Given the description of an element on the screen output the (x, y) to click on. 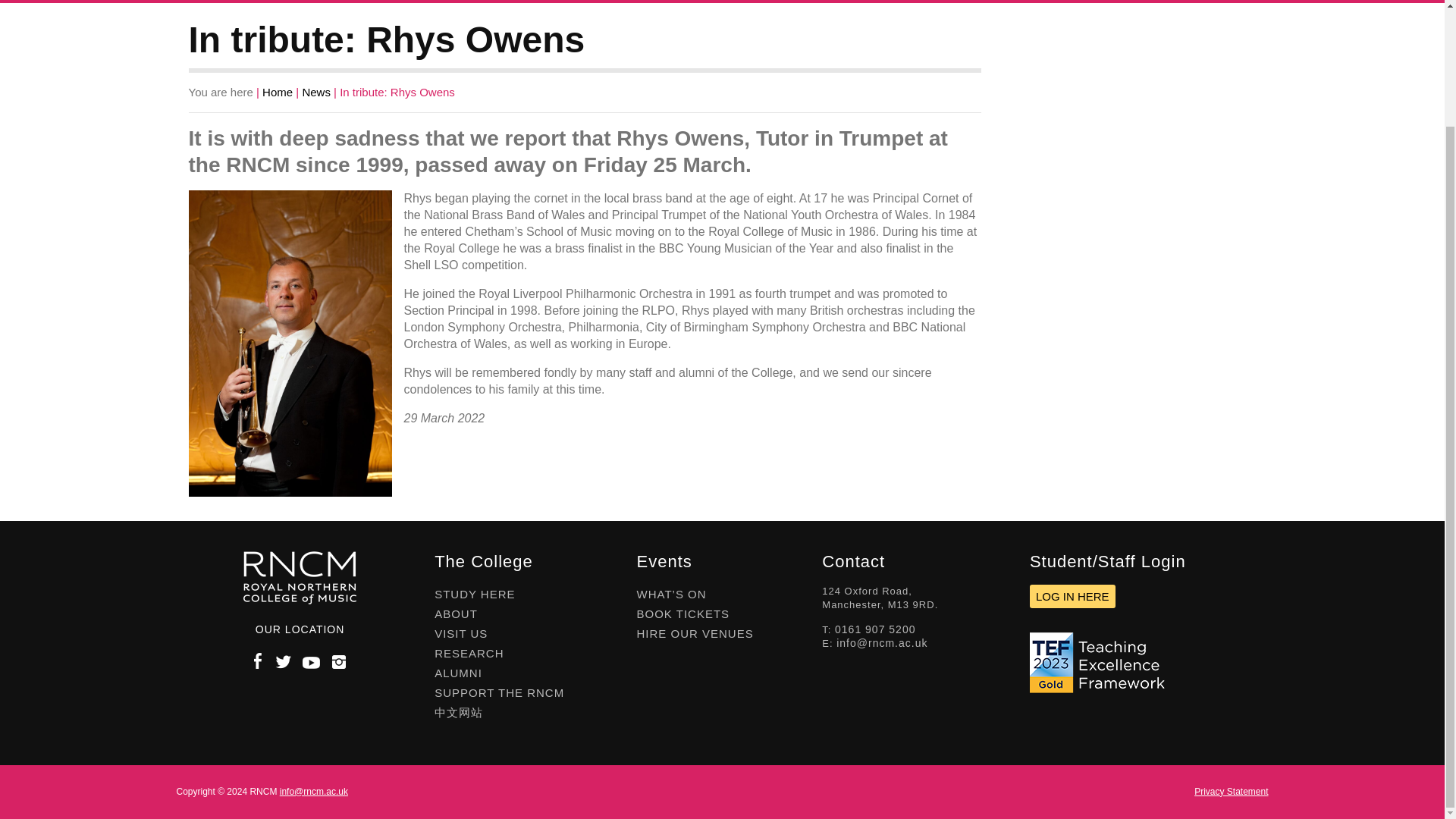
STUDY HERE (238, 1)
